Given the description of an element on the screen output the (x, y) to click on. 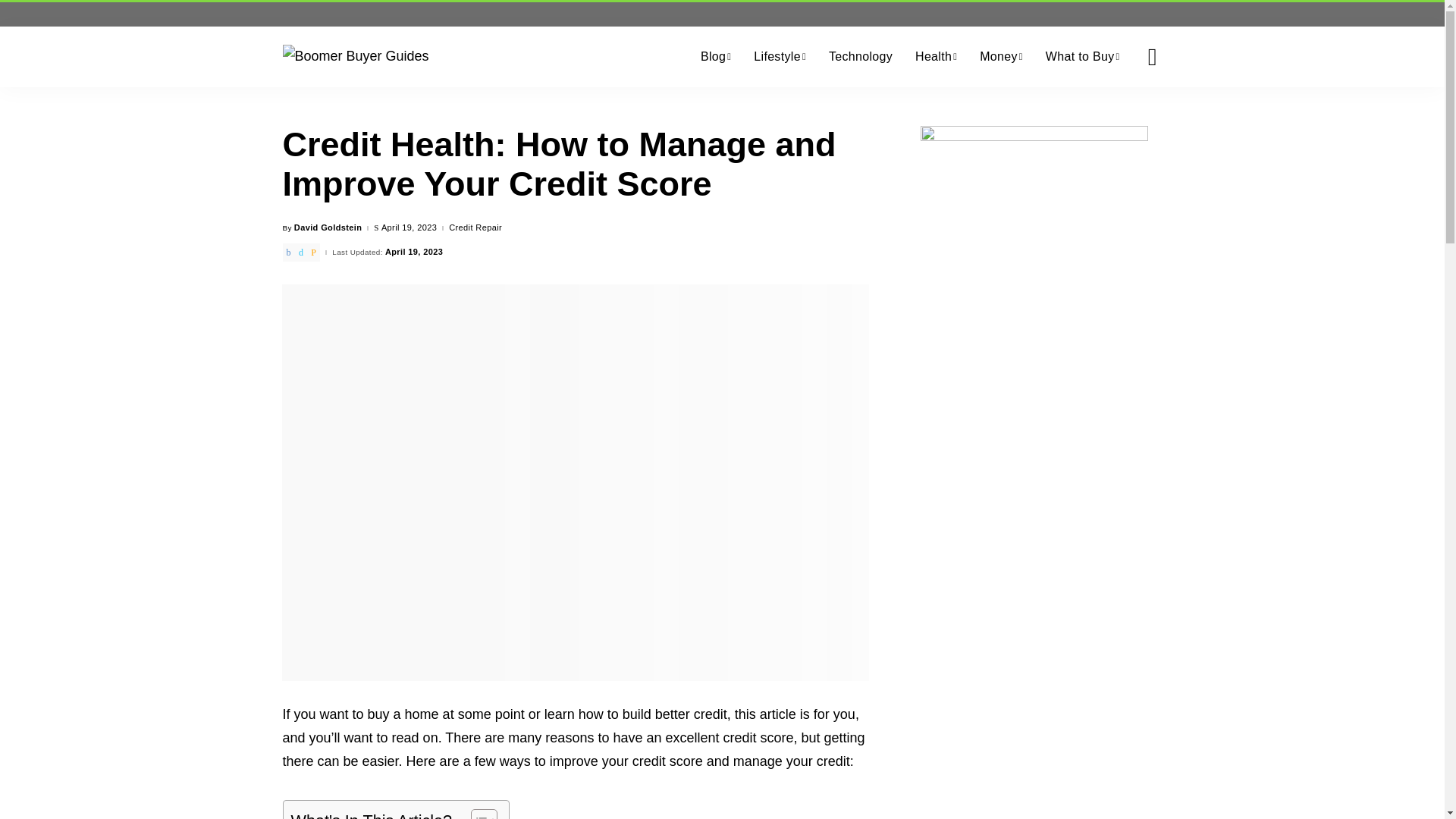
Boomer Buyer Guides (355, 56)
2023-04-19T08:15:43-07:00 (408, 227)
